Given the description of an element on the screen output the (x, y) to click on. 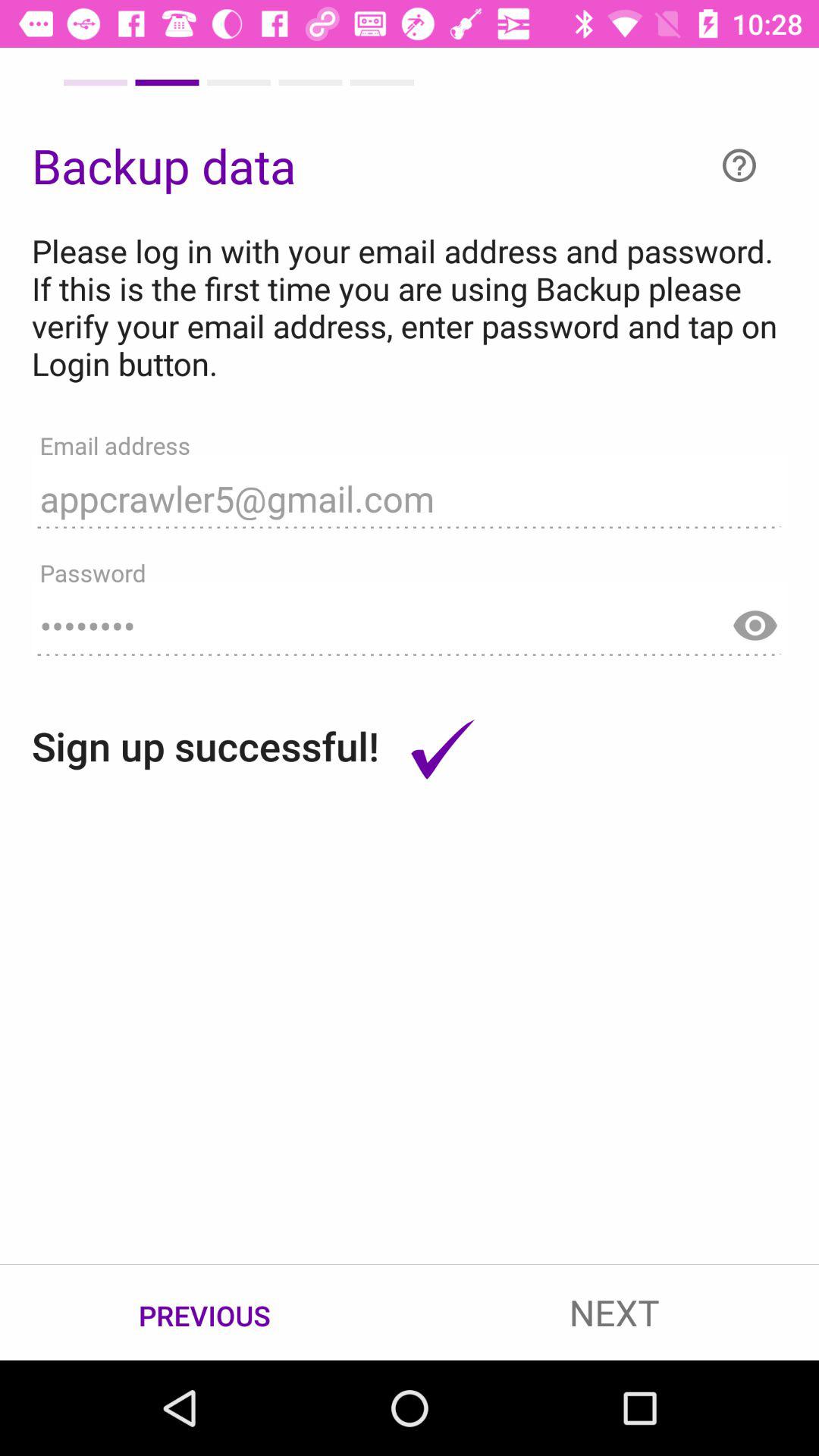
open backup help (739, 165)
